Given the description of an element on the screen output the (x, y) to click on. 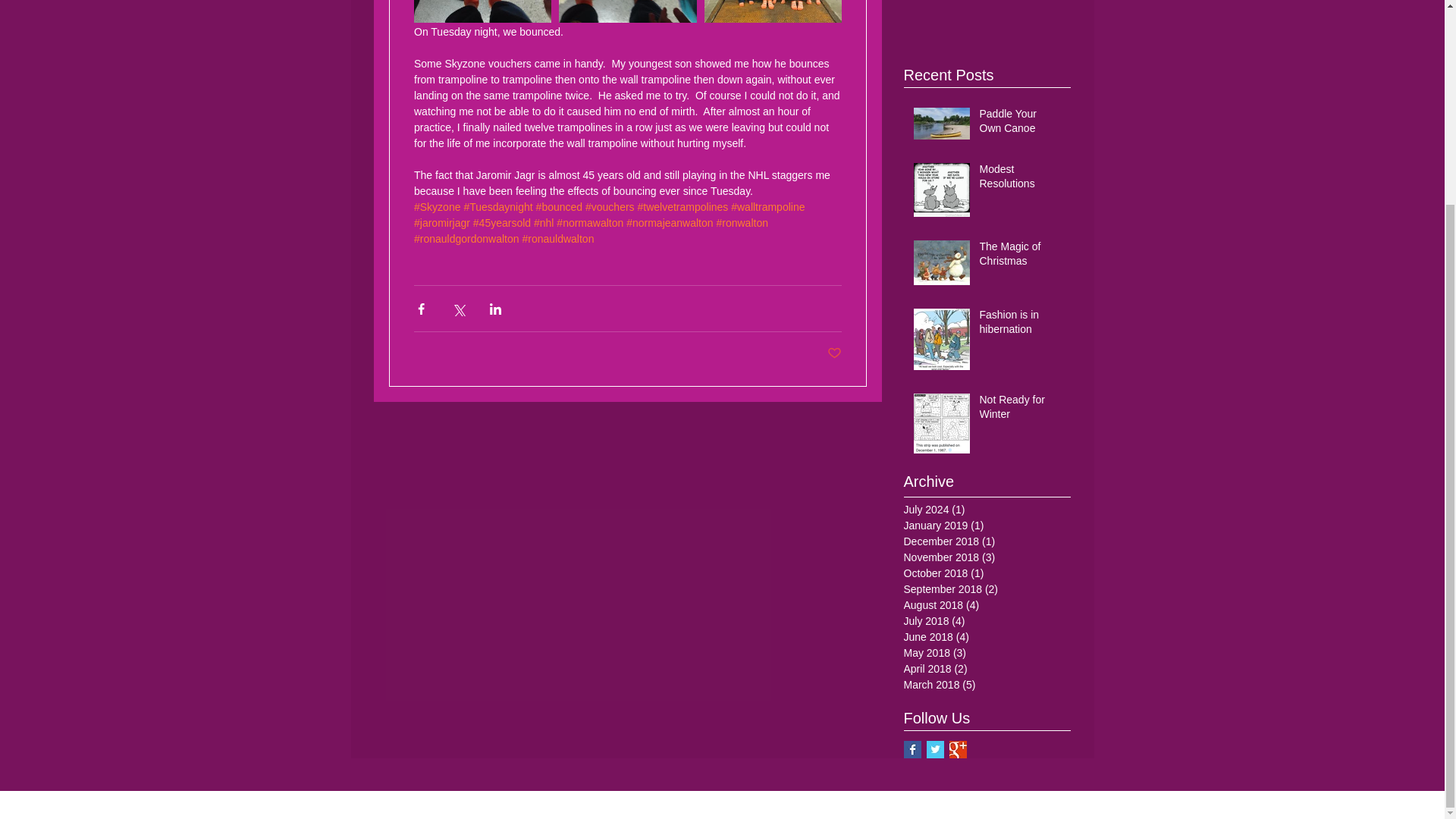
Not Ready for Winter (1020, 410)
Post not marked as liked (834, 353)
Fashion is in hibernation (1020, 325)
Modest Resolutions (1020, 180)
Norma Jean (987, 19)
Paddle Your Own Canoe (1020, 124)
Norma Jean (987, 19)
The Magic of Christmas (1020, 257)
